Given the description of an element on the screen output the (x, y) to click on. 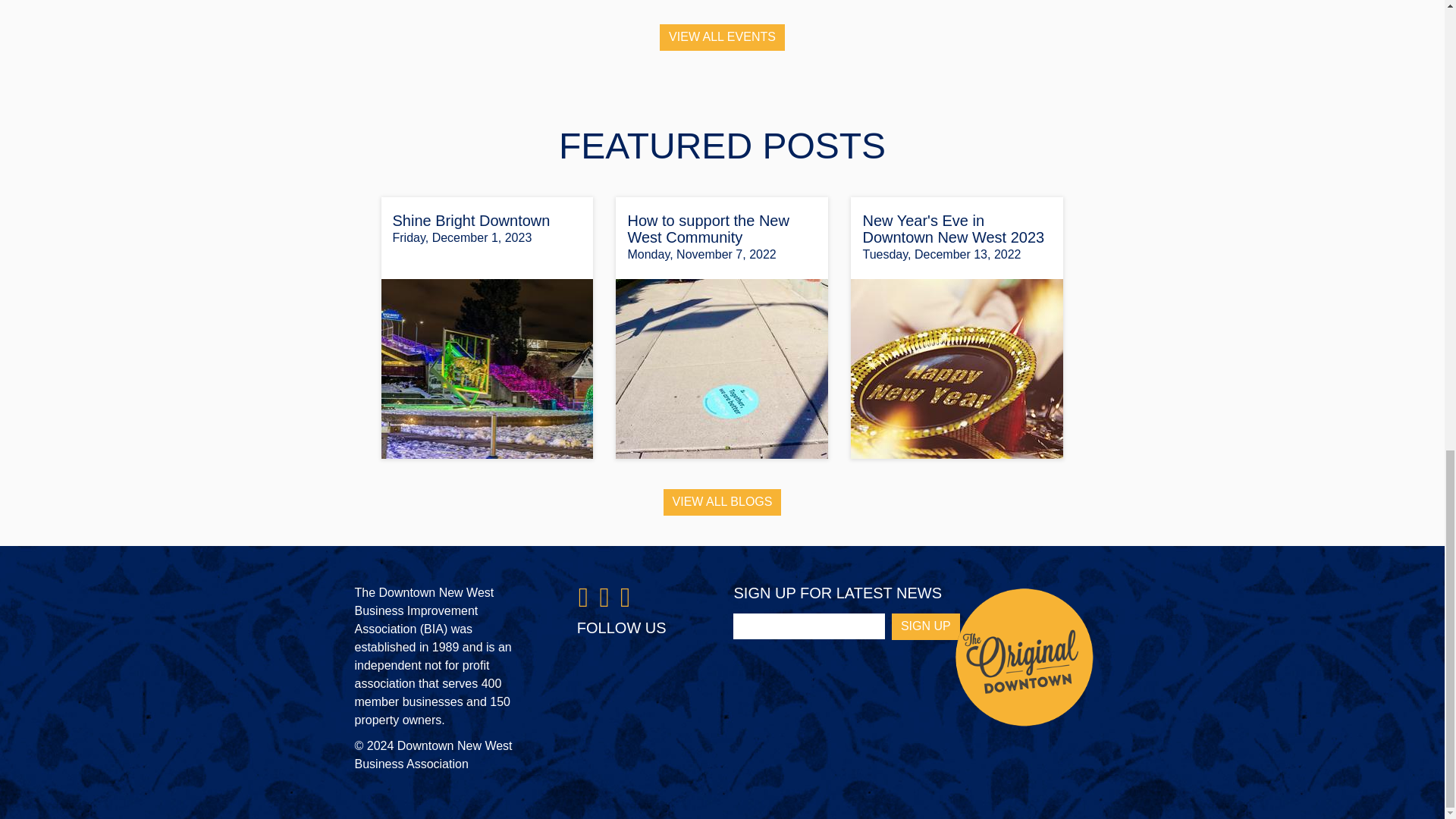
Sign Up (925, 626)
Sign Up (925, 626)
VIEW ALL BLOGS (722, 501)
Hyack Square Shine Bright (486, 368)
champagne (956, 368)
web size together we are better (721, 368)
VIEW ALL EVENTS (721, 37)
